Given the description of an element on the screen output the (x, y) to click on. 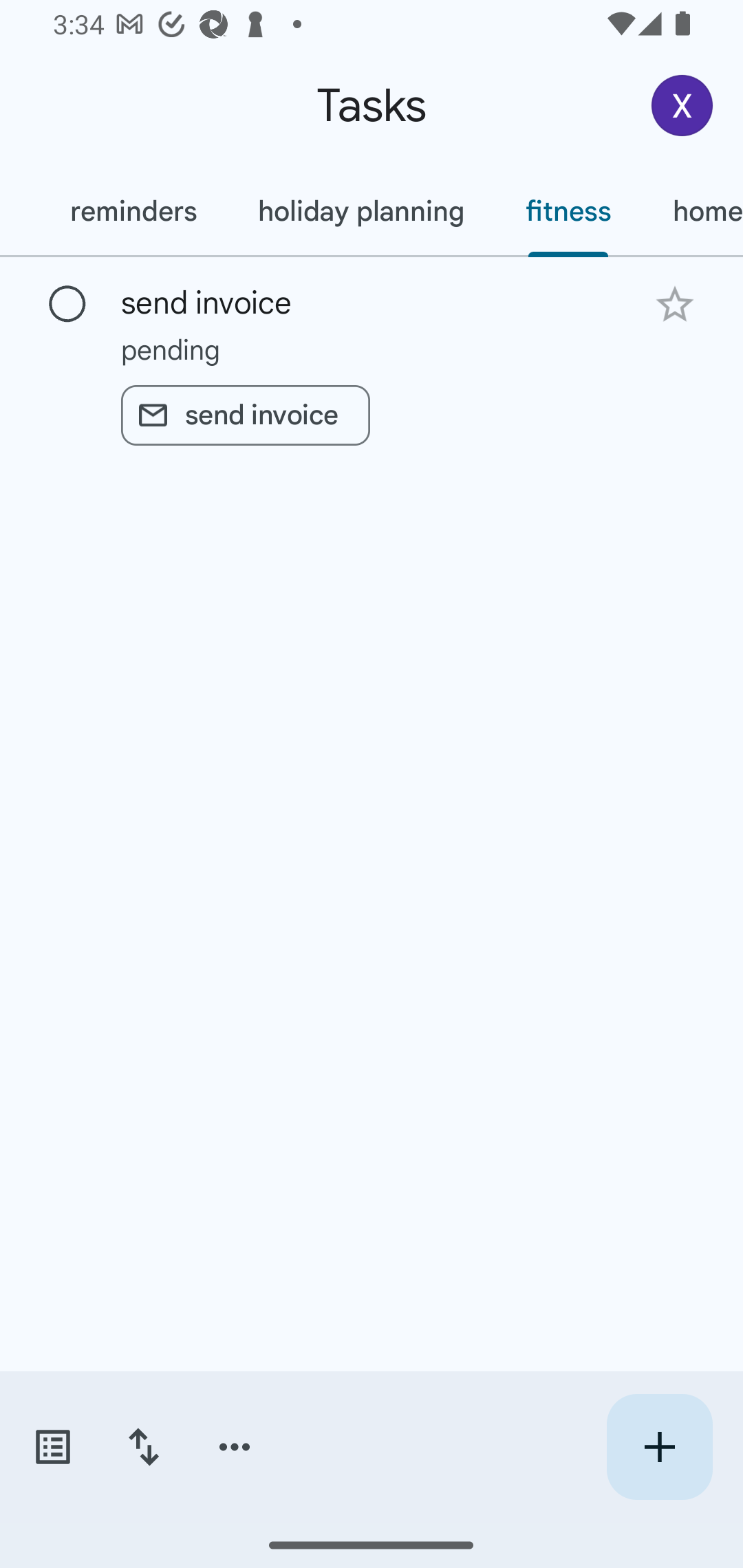
reminders (133, 211)
holiday planning (360, 211)
home management (692, 211)
Add star (674, 303)
Mark as complete (67, 304)
pending (371, 349)
send invoice Related link (245, 415)
Switch task lists (52, 1447)
Create new task (659, 1446)
Change sort order (143, 1446)
More options (234, 1446)
